Given the description of an element on the screen output the (x, y) to click on. 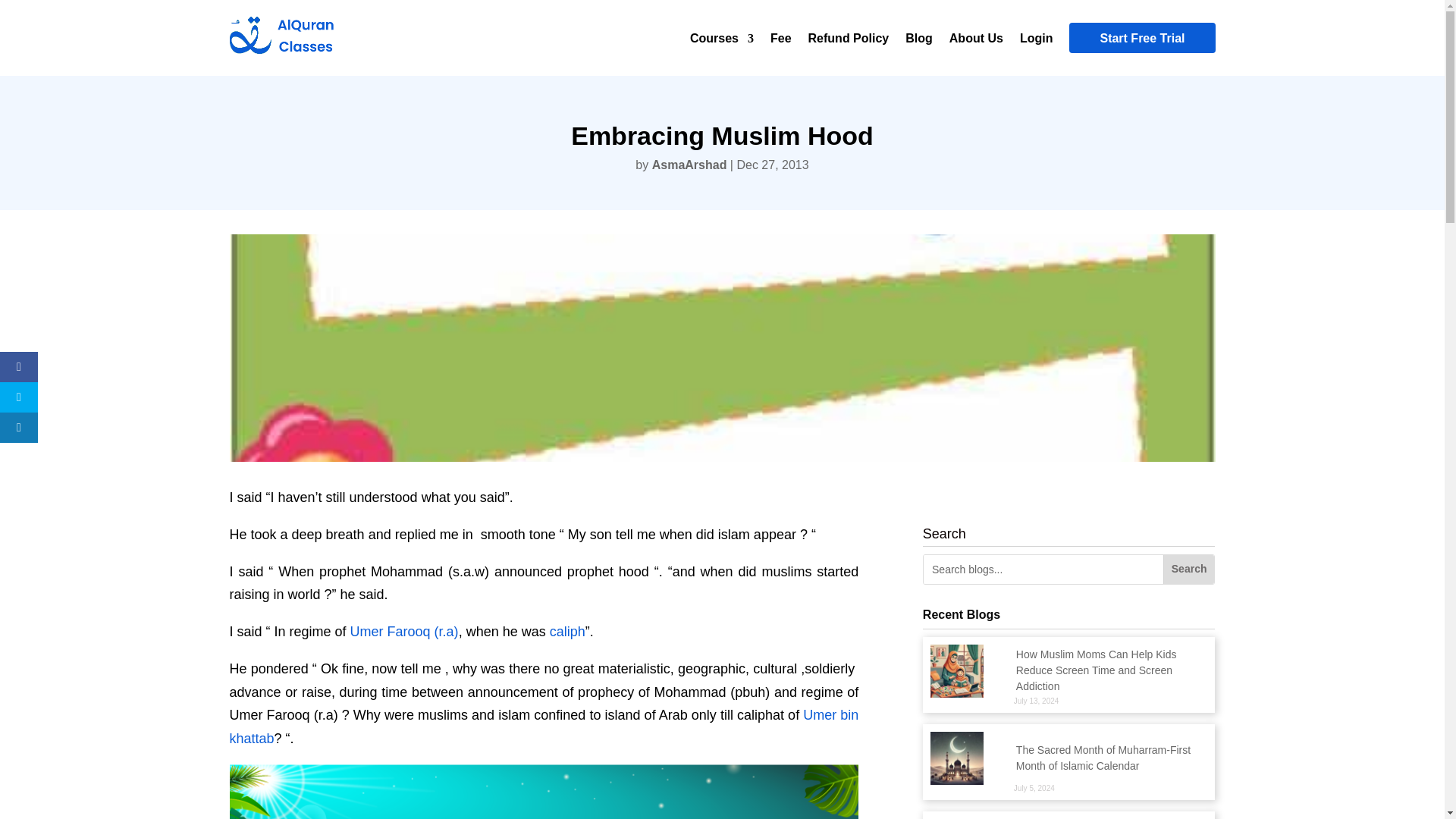
About Us (976, 41)
Fee (781, 41)
Posts by AsmaArshad (689, 164)
Search (1188, 569)
Start Free Trial (1141, 37)
Refund Policy (848, 41)
Courses (722, 41)
Blog (919, 41)
online-quran-classes (543, 791)
Search (1188, 569)
Login (1036, 41)
